Given the description of an element on the screen output the (x, y) to click on. 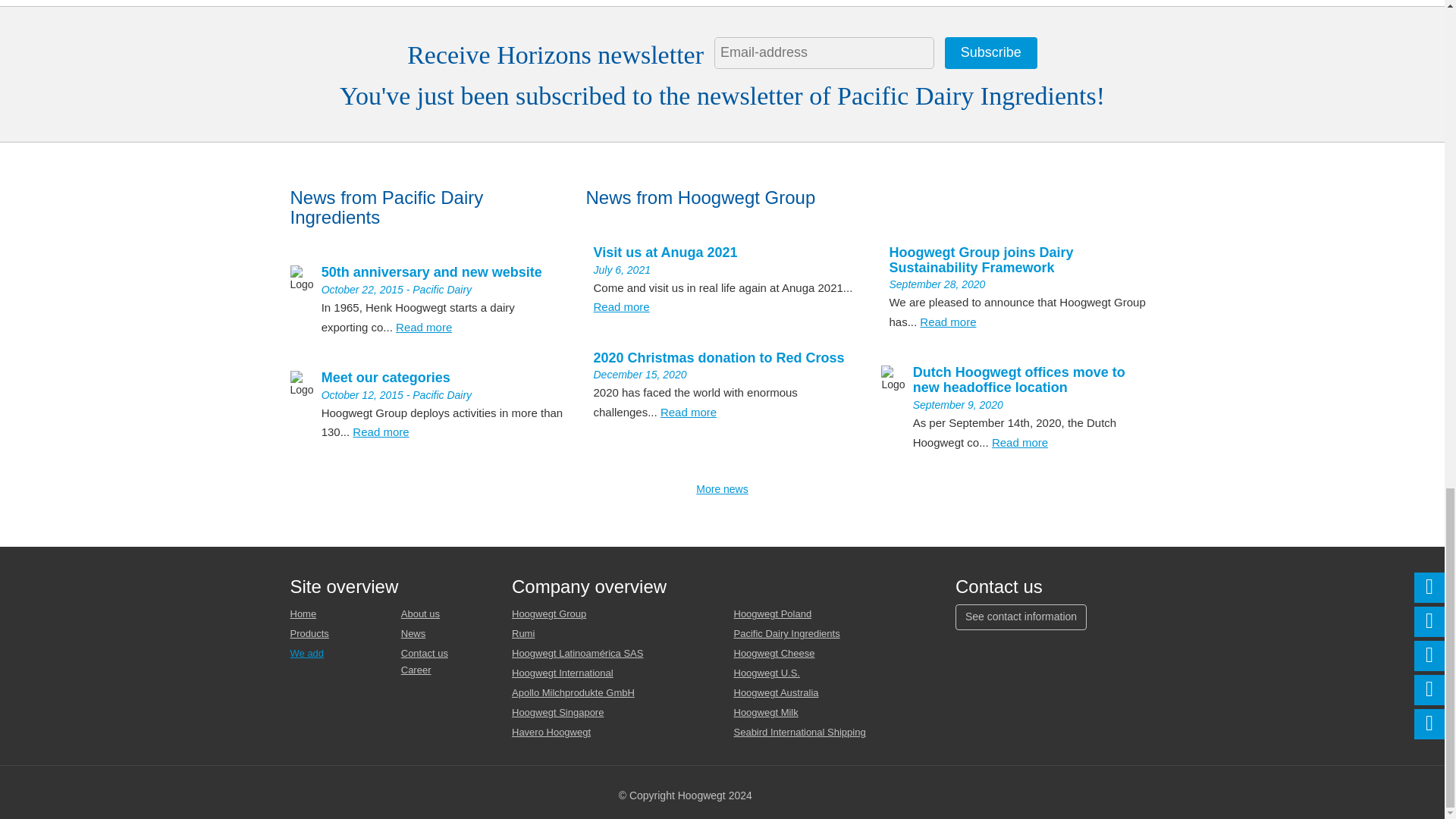
Read more (620, 306)
Read more (1019, 441)
Contact us (424, 653)
More news (721, 489)
Read more (688, 411)
News (413, 633)
Career (415, 669)
We add (306, 653)
Products (309, 633)
Hoogwegt Group (549, 613)
